Given the description of an element on the screen output the (x, y) to click on. 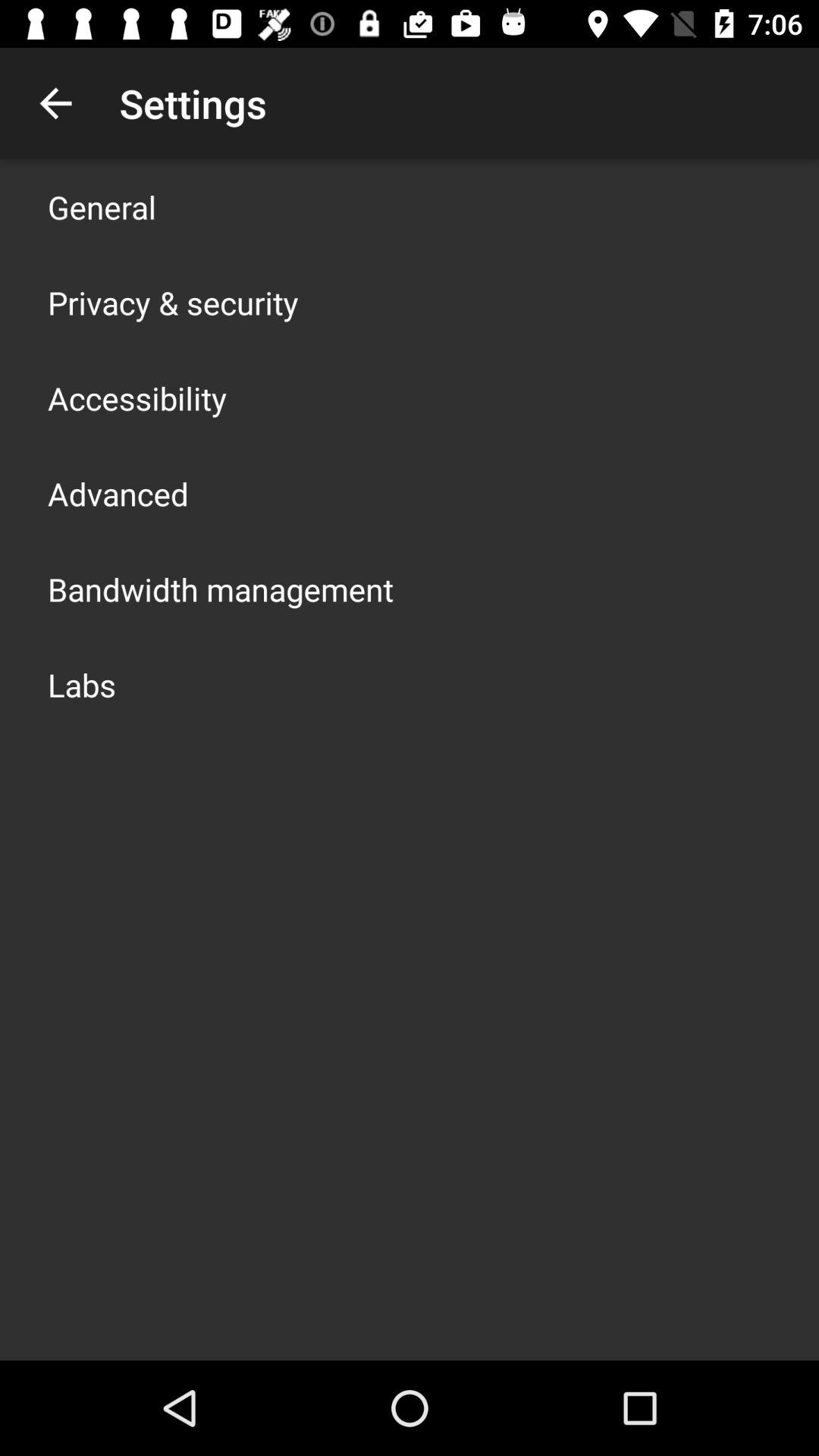
launch the item above bandwidth management item (117, 493)
